Given the description of an element on the screen output the (x, y) to click on. 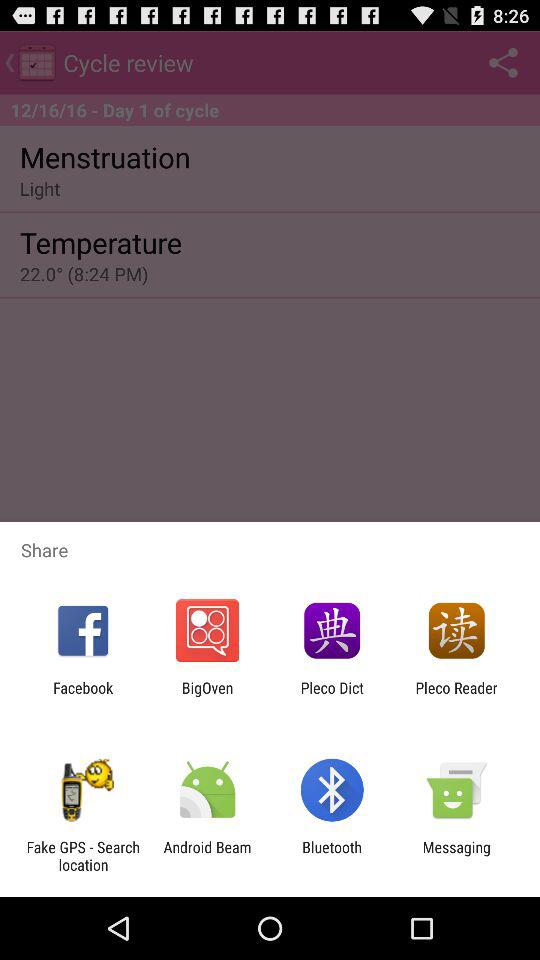
press the item to the left of messaging (331, 856)
